Given the description of an element on the screen output the (x, y) to click on. 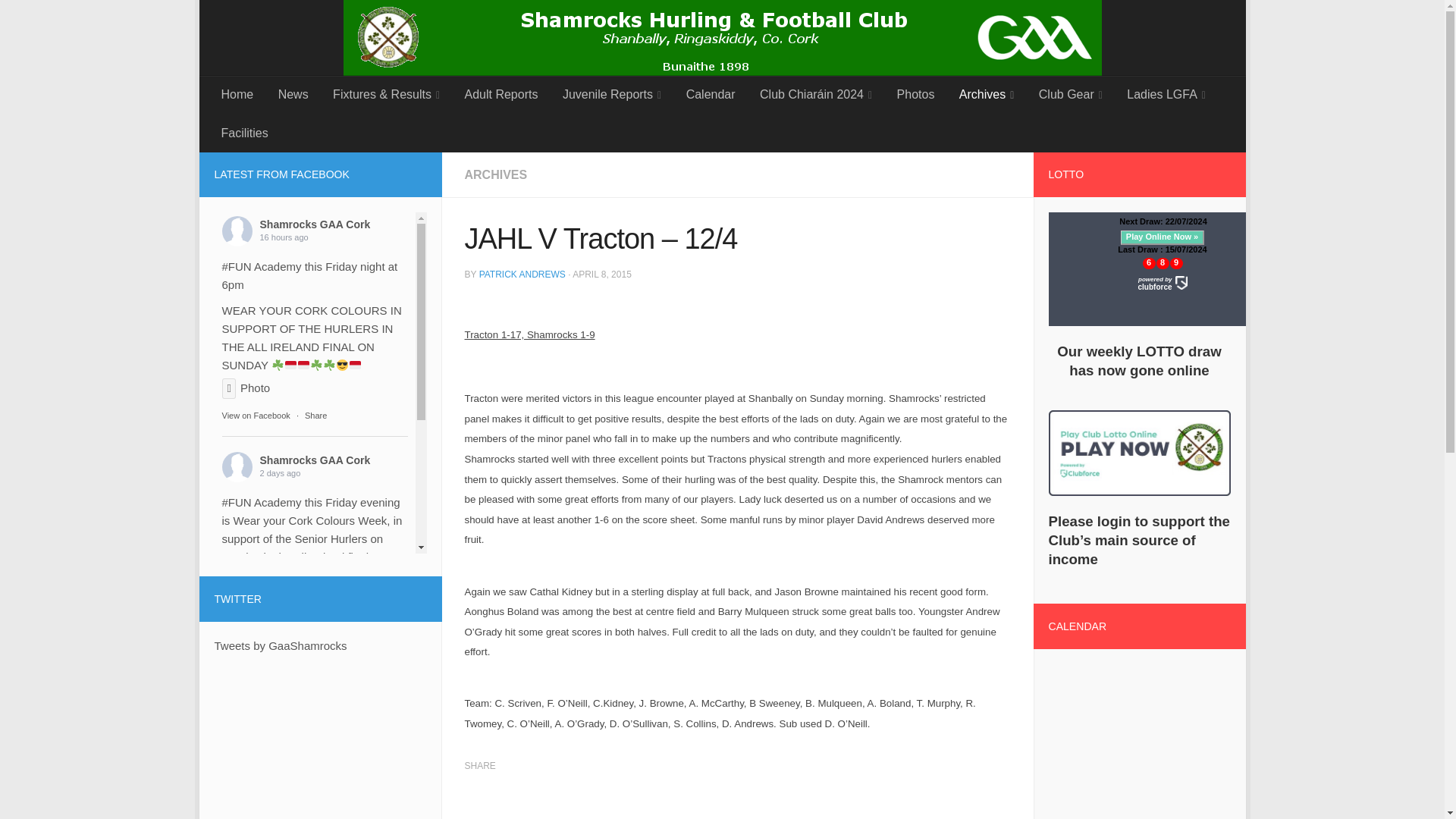
Home (237, 94)
Juvenile Reports (611, 95)
News (292, 94)
Calendar (710, 94)
Adult Reports (500, 94)
Likebox Iframe (314, 700)
View on Facebook (255, 415)
Share (315, 415)
Archives (987, 95)
Share (315, 606)
Photos (915, 94)
Posts by Patrick Andrews (522, 274)
View on Facebook (255, 606)
